Given the description of an element on the screen output the (x, y) to click on. 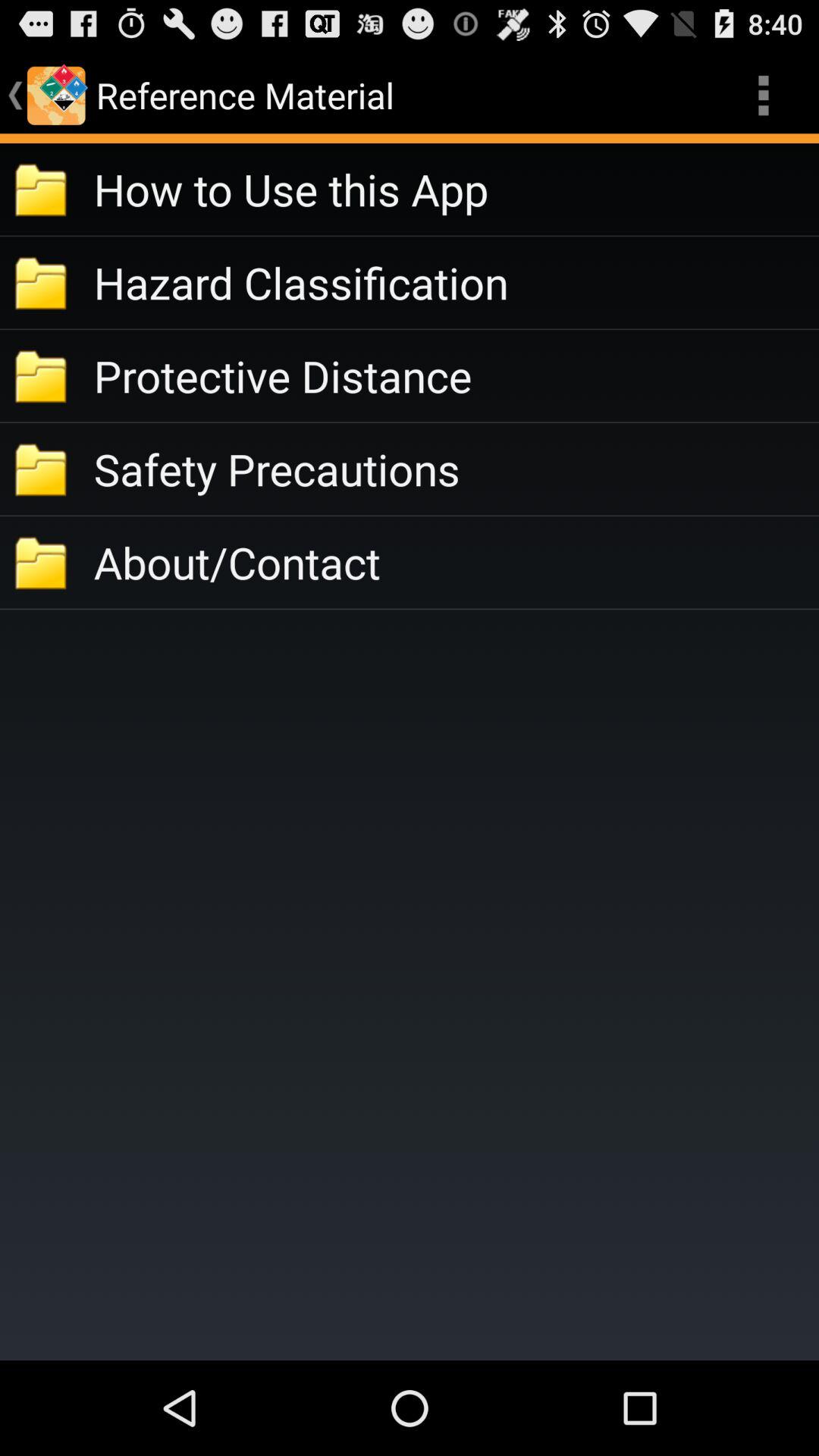
press the app next to reference material icon (763, 95)
